Given the description of an element on the screen output the (x, y) to click on. 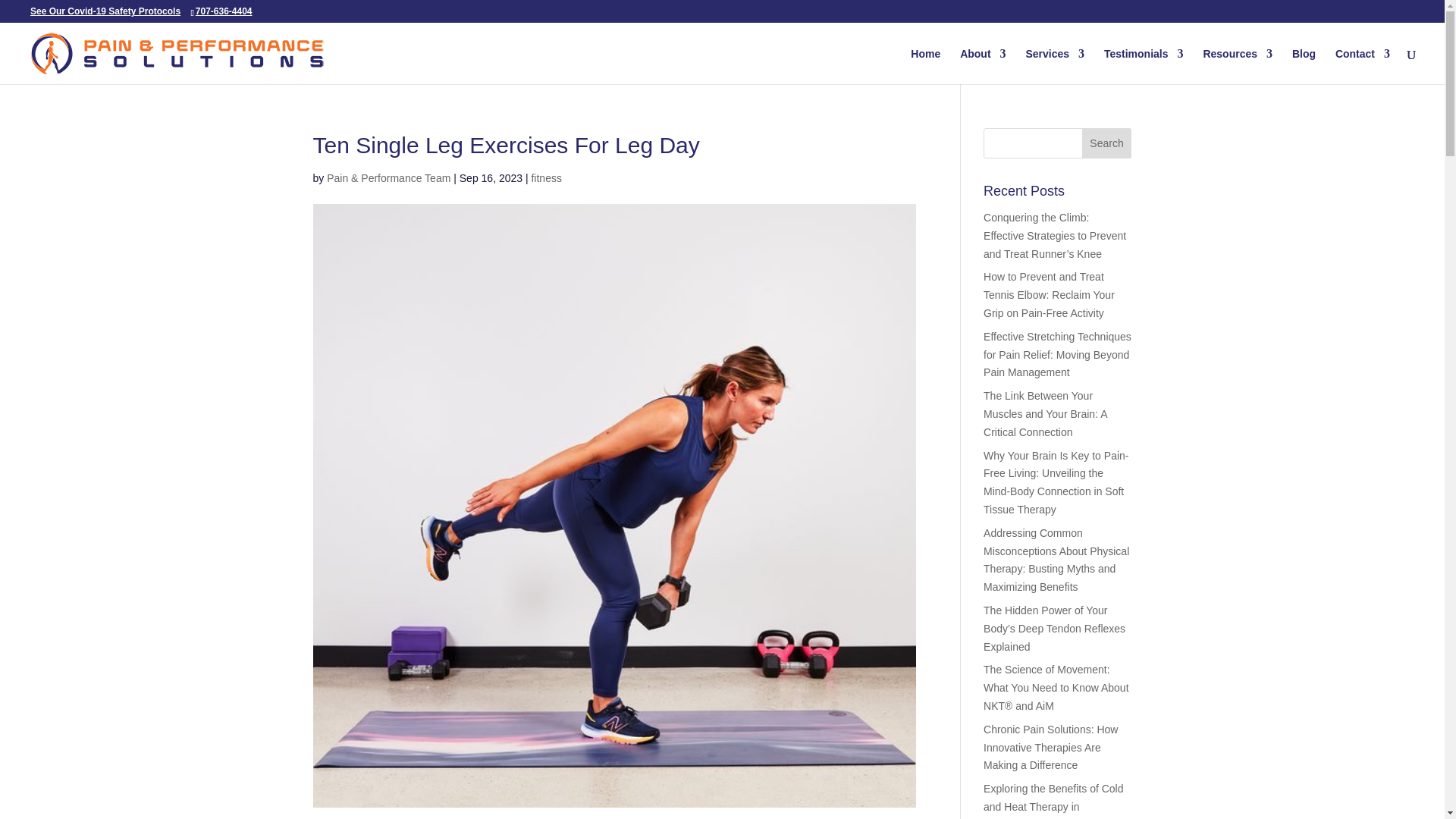
Testimonials (1143, 66)
Services (1054, 66)
Search (1106, 142)
Resources (1237, 66)
About (982, 66)
707-636-4404 (226, 10)
See Our Covid-19 Safety Protocols (105, 10)
Contact (1362, 66)
fitness (545, 177)
